Given the description of an element on the screen output the (x, y) to click on. 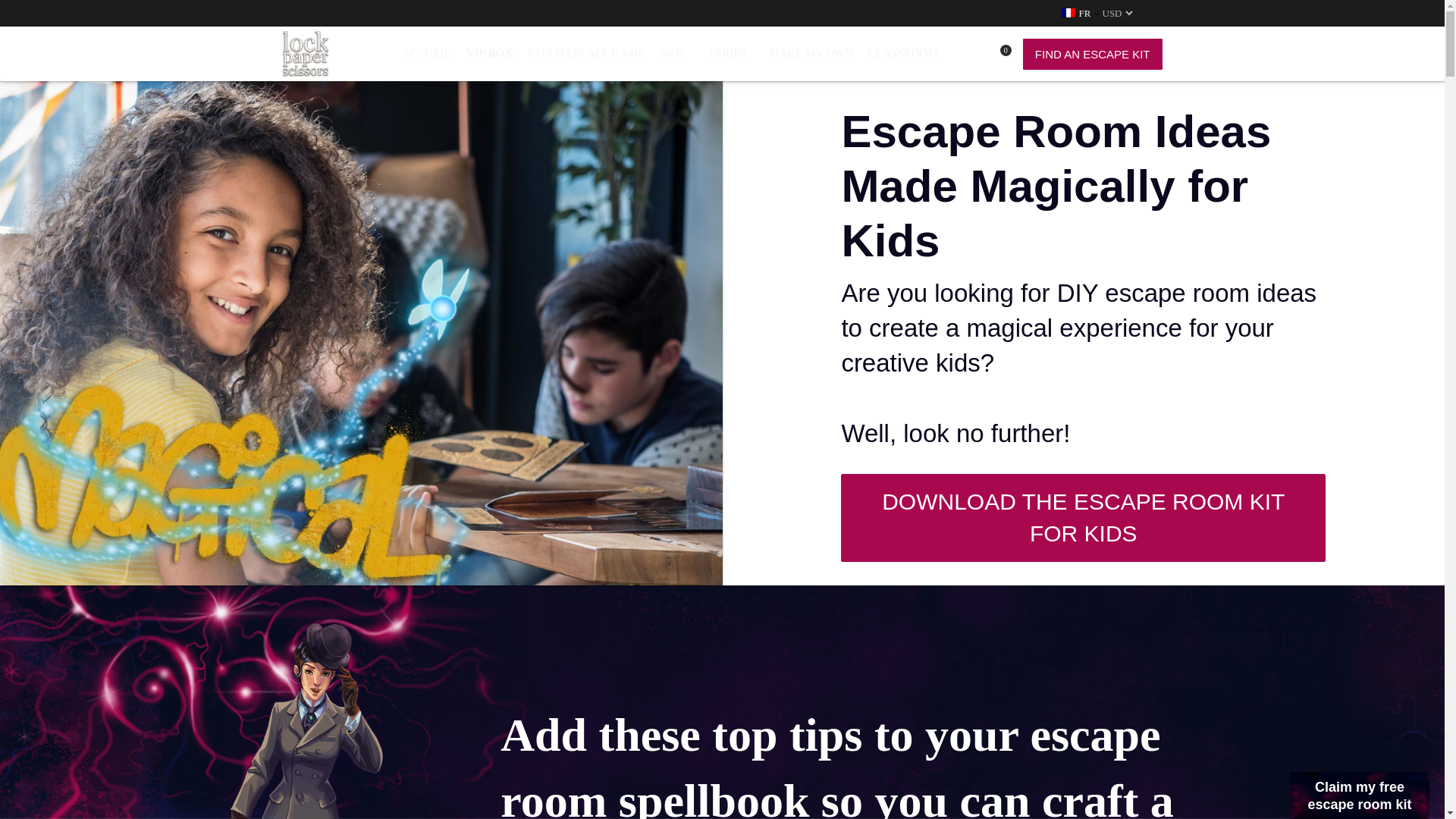
AVIS (672, 52)
VIP BOX (488, 52)
TARIFS (727, 52)
FR (1078, 12)
French (1068, 12)
ACCUEIL (426, 52)
KITS D'ESCAPE GAME (585, 52)
MAKE MY OWN (810, 52)
